Given the description of an element on the screen output the (x, y) to click on. 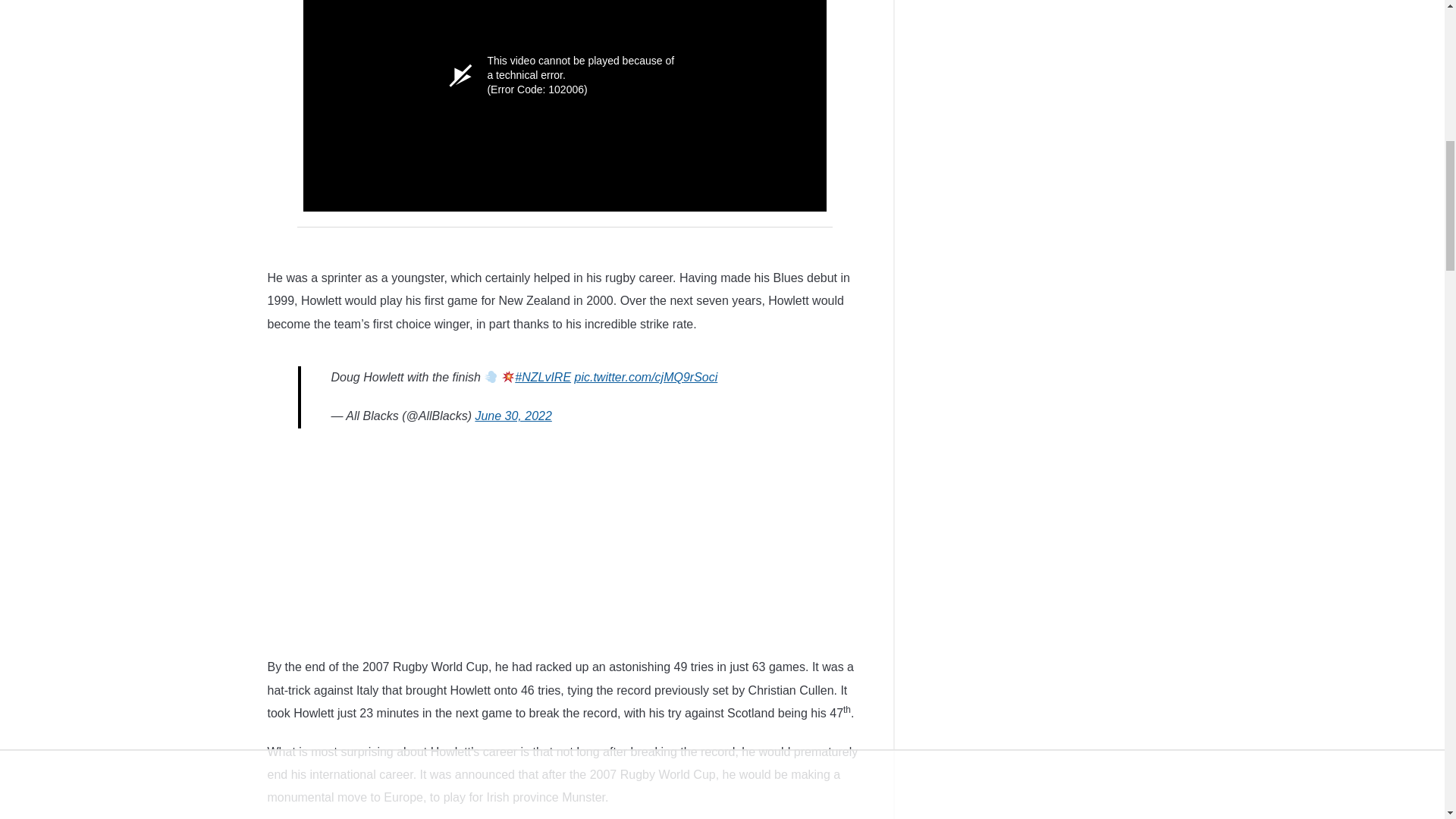
June 30, 2022 (512, 415)
